Given the description of an element on the screen output the (x, y) to click on. 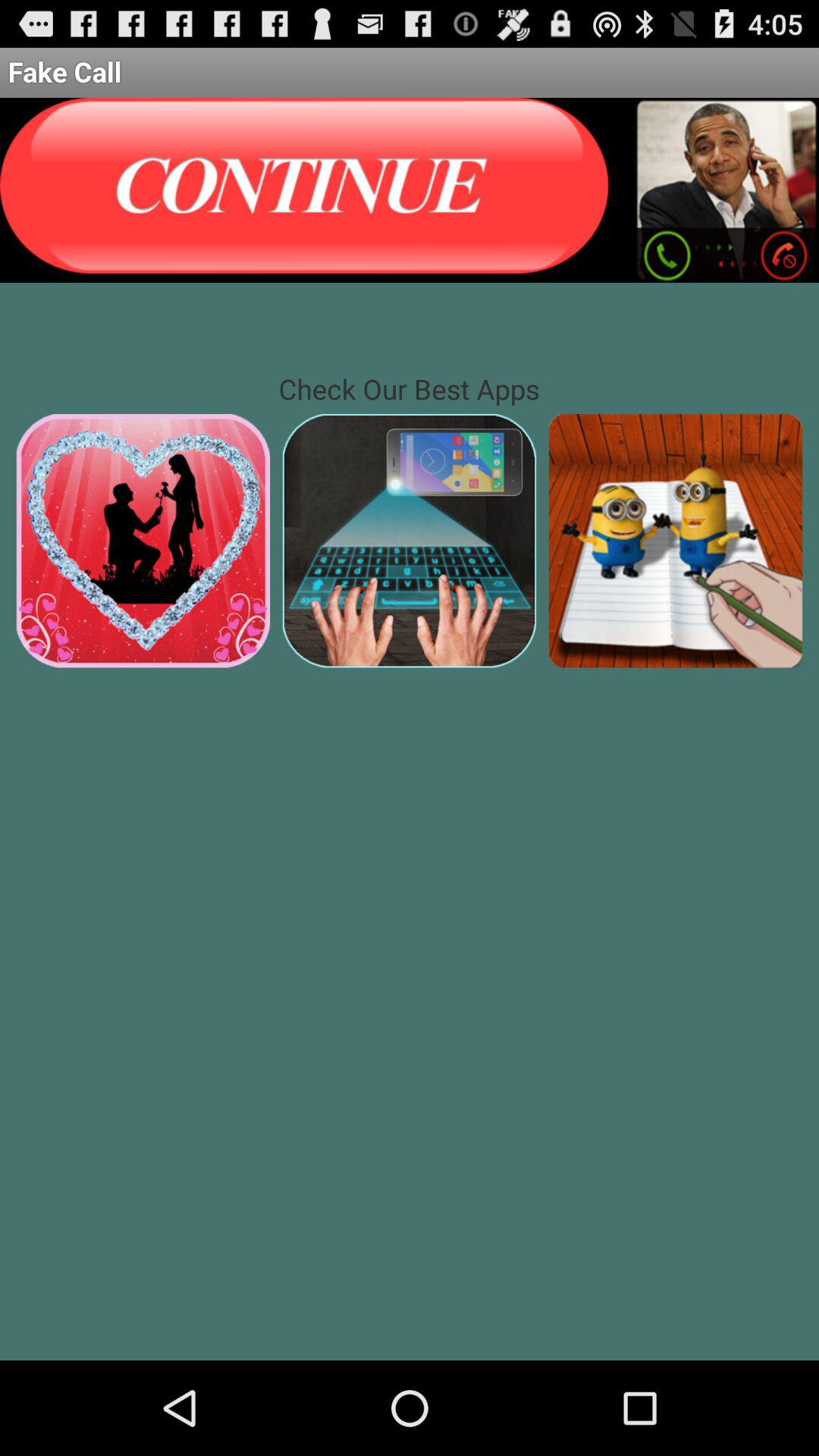
option (307, 189)
